Given the description of an element on the screen output the (x, y) to click on. 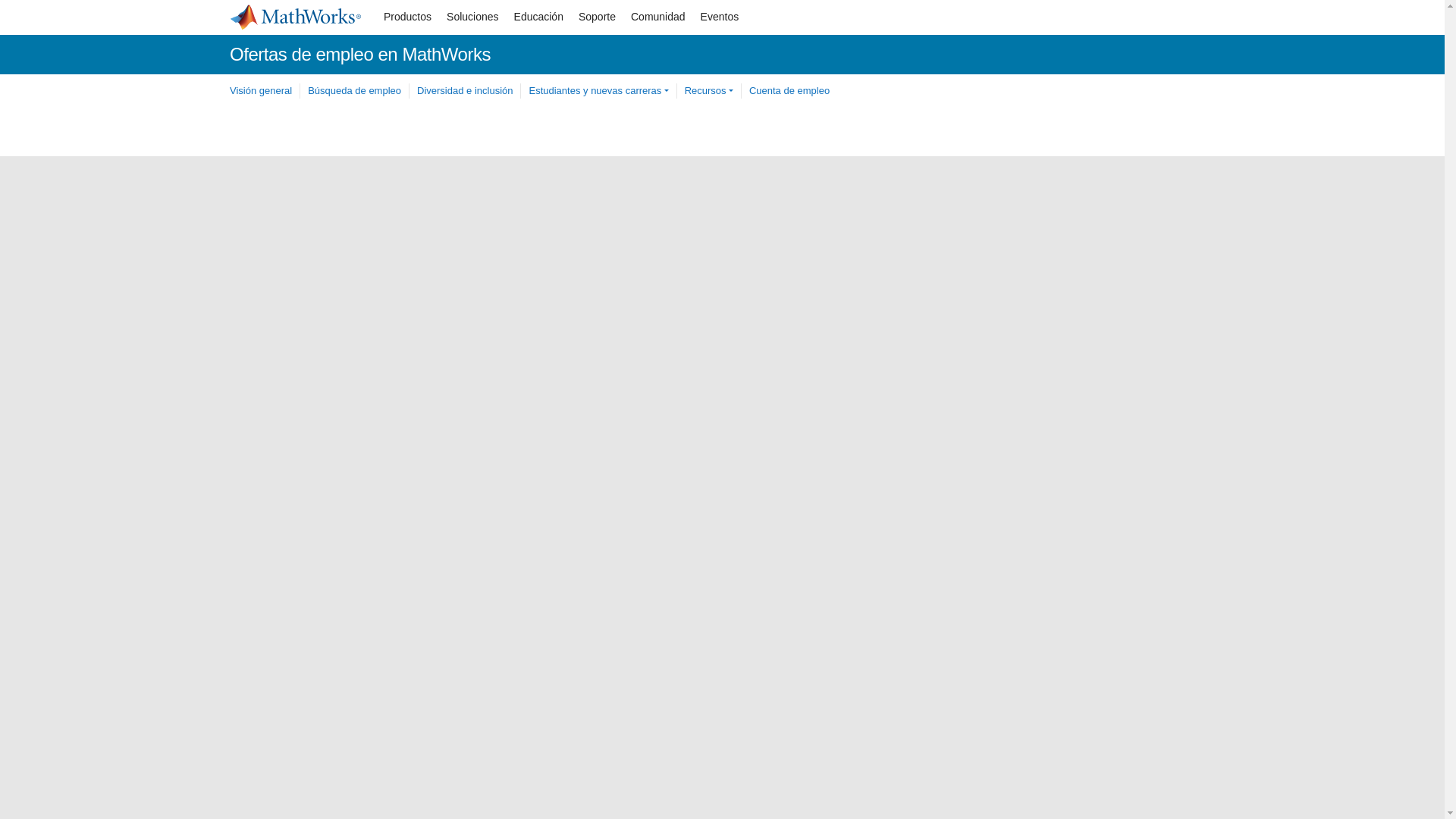
Eventos (719, 16)
Comunidad (658, 16)
Recursos (708, 90)
Soporte (596, 16)
Estudiantes y nuevas carreras (597, 90)
Soluciones (472, 16)
Cuenta de empleo (788, 90)
Productos (407, 16)
Ofertas de empleo en MathWorks (360, 54)
